Given the description of an element on the screen output the (x, y) to click on. 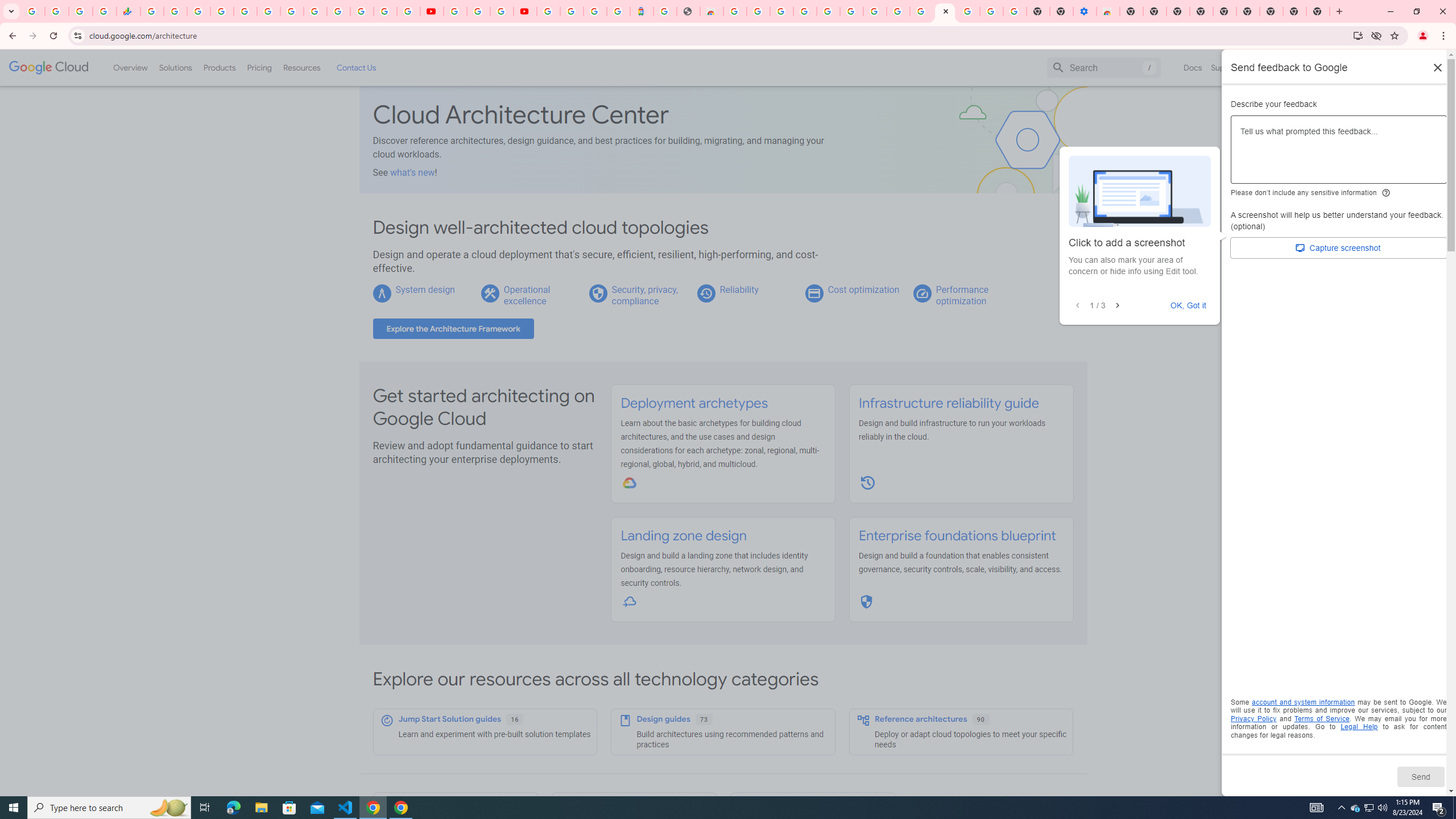
Resources (301, 67)
Chrome Web Store - Accessibility extensions (1108, 11)
Infrastructure reliability guide (948, 402)
Docs (1192, 67)
Google Account Help (850, 11)
New Tab (1271, 11)
what's new (412, 172)
YouTube (431, 11)
